Given the description of an element on the screen output the (x, y) to click on. 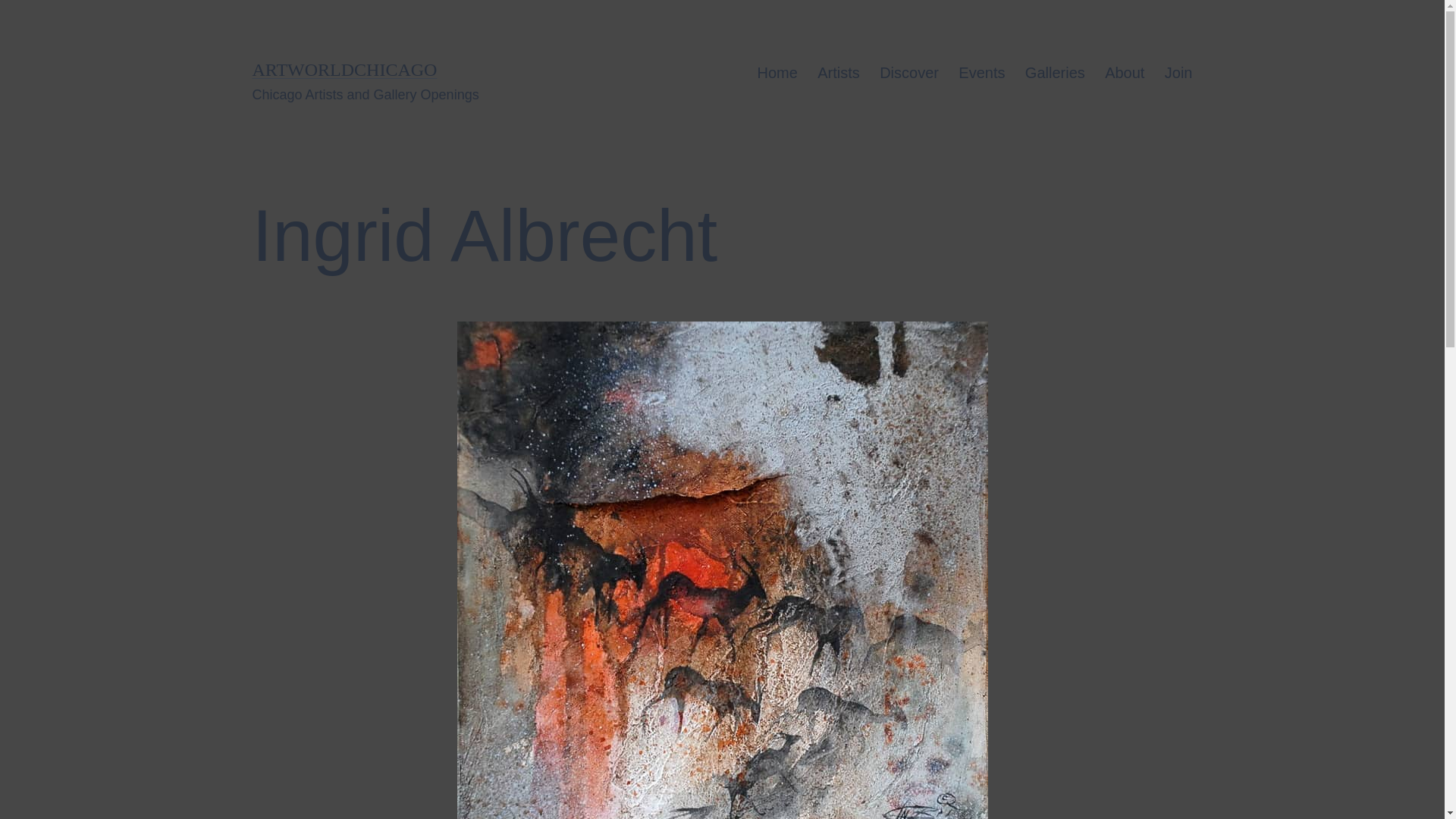
ARTWORLDCHICAGO (343, 69)
Artists (838, 72)
Home (777, 72)
Galleries (1054, 72)
Events (981, 72)
Join (1178, 72)
About (1124, 72)
Discover (909, 72)
